Given the description of an element on the screen output the (x, y) to click on. 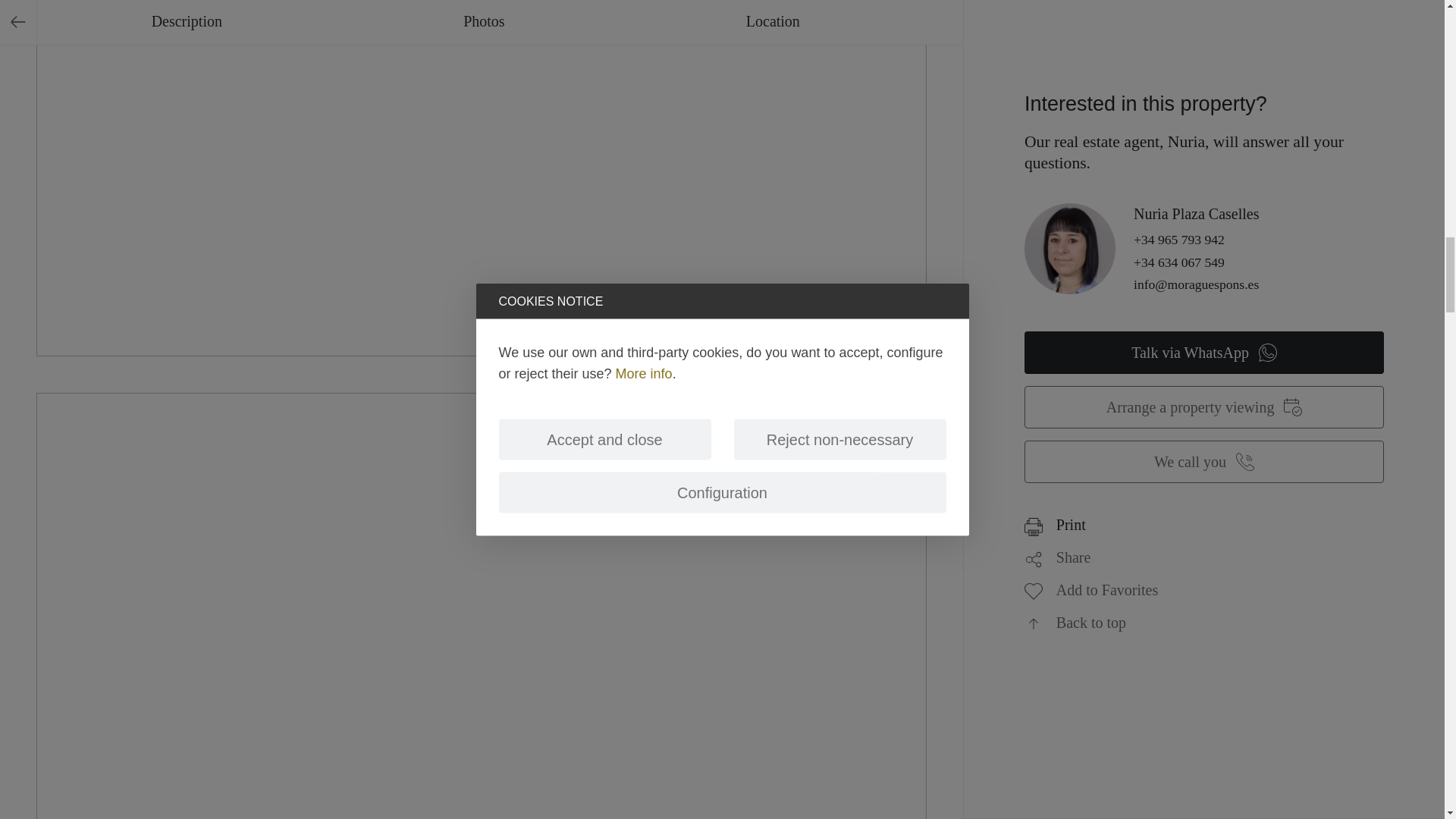
Photo 3 of 19 (481, 758)
